Given the description of an element on the screen output the (x, y) to click on. 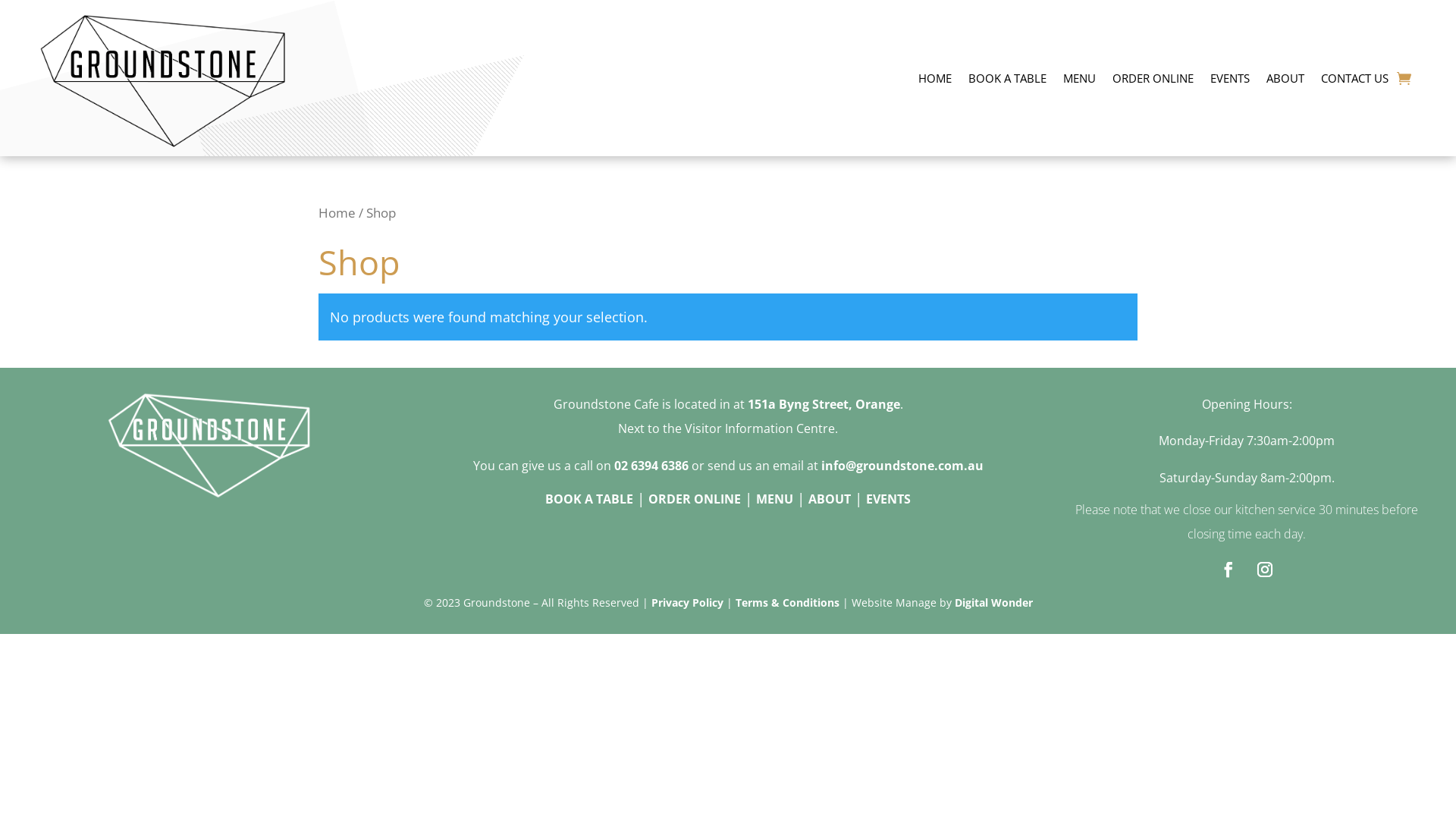
MENU Element type: text (774, 498)
Follow on Instagram Element type: hover (1264, 569)
GROUNSDSTONE-WHITE Element type: hover (209, 445)
Digital Wonder Element type: text (992, 602)
ORDER ONLINE Element type: text (1152, 77)
BOOK A TABLE Element type: text (589, 498)
02 6394 6386 Element type: text (651, 465)
Home Element type: text (336, 212)
Terms & Conditions Element type: text (787, 602)
HOME Element type: text (934, 77)
info@groundstone.com.au Element type: text (901, 465)
CONTACT US Element type: text (1354, 77)
ABOUT Element type: text (1285, 77)
EVENTS Element type: text (888, 498)
Privacy Policy Element type: text (686, 602)
BOOK A TABLE Element type: text (1007, 77)
Follow on Facebook Element type: hover (1228, 569)
151a Byng Street, Orange Element type: text (823, 403)
MENU Element type: text (1079, 77)
ABOUT Element type: text (829, 498)
EVENTS Element type: text (1229, 77)
ORDER ONLINE Element type: text (694, 498)
